Given the description of an element on the screen output the (x, y) to click on. 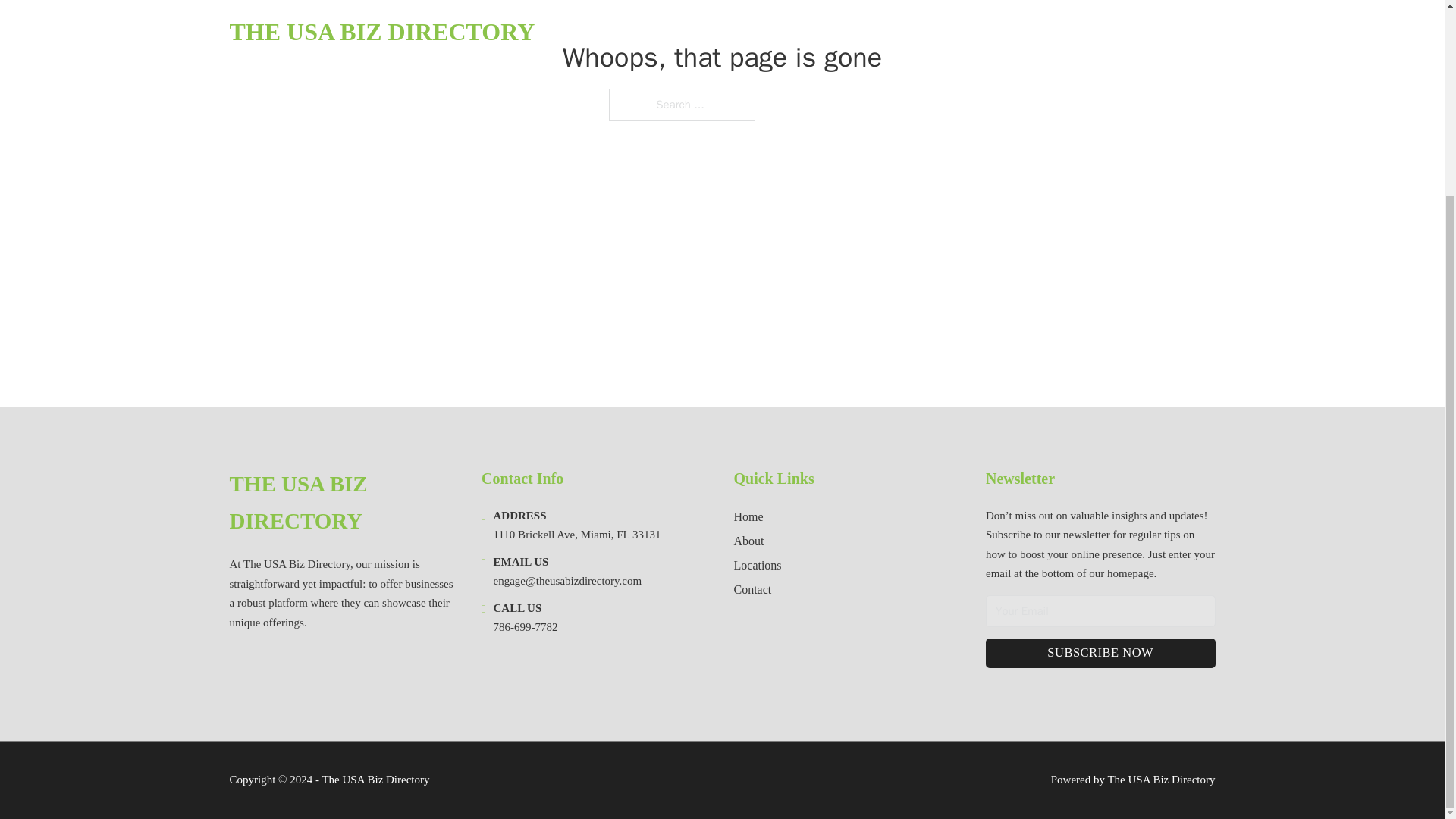
Contact (752, 589)
THE USA BIZ DIRECTORY (343, 503)
Locations (757, 565)
About (748, 540)
SUBSCRIBE NOW (1100, 653)
786-699-7782 (525, 626)
Home (747, 516)
